Given the description of an element on the screen output the (x, y) to click on. 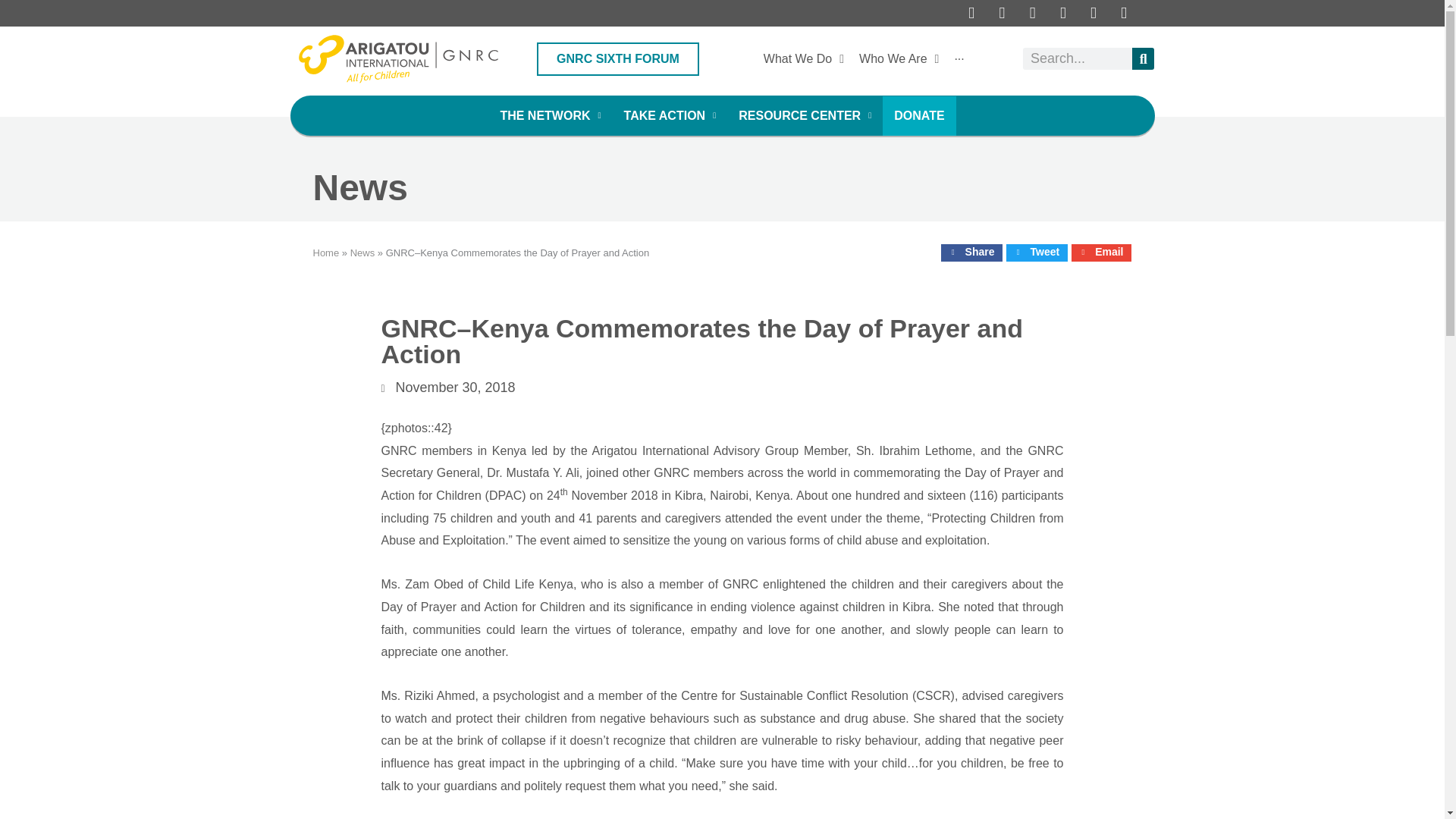
Youtube (1032, 13)
Instagram (1061, 13)
Phone-alt (1124, 13)
Facebook (971, 13)
GNRC SIXTH FORUM (617, 59)
Twitter (1001, 13)
SEARCH (1143, 58)
Linkedin (1092, 13)
Who We Are (898, 58)
What We Do (803, 58)
